Given the description of an element on the screen output the (x, y) to click on. 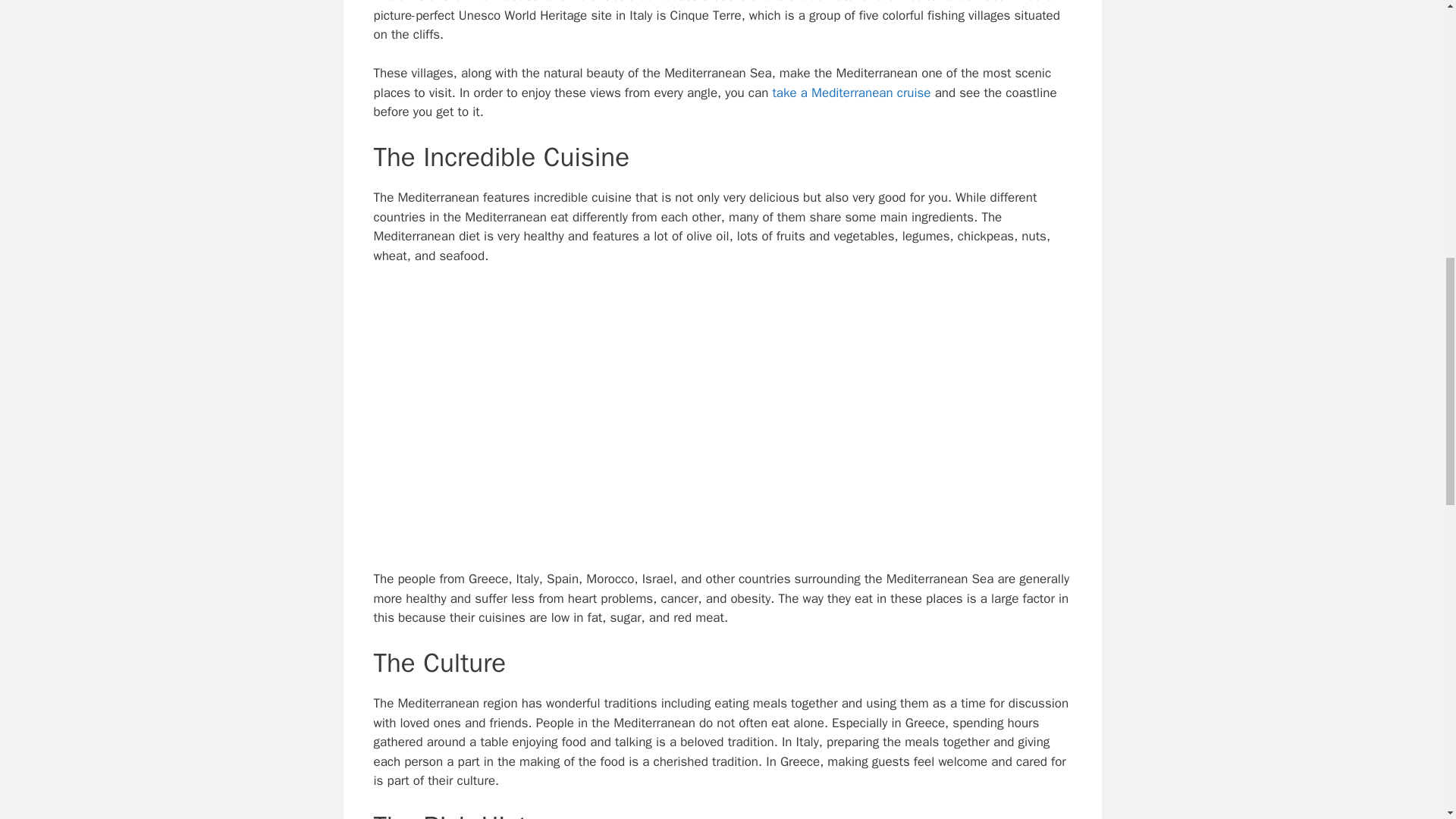
Scroll back to top (1406, 720)
take a Mediterranean cruise (850, 92)
